Given the description of an element on the screen output the (x, y) to click on. 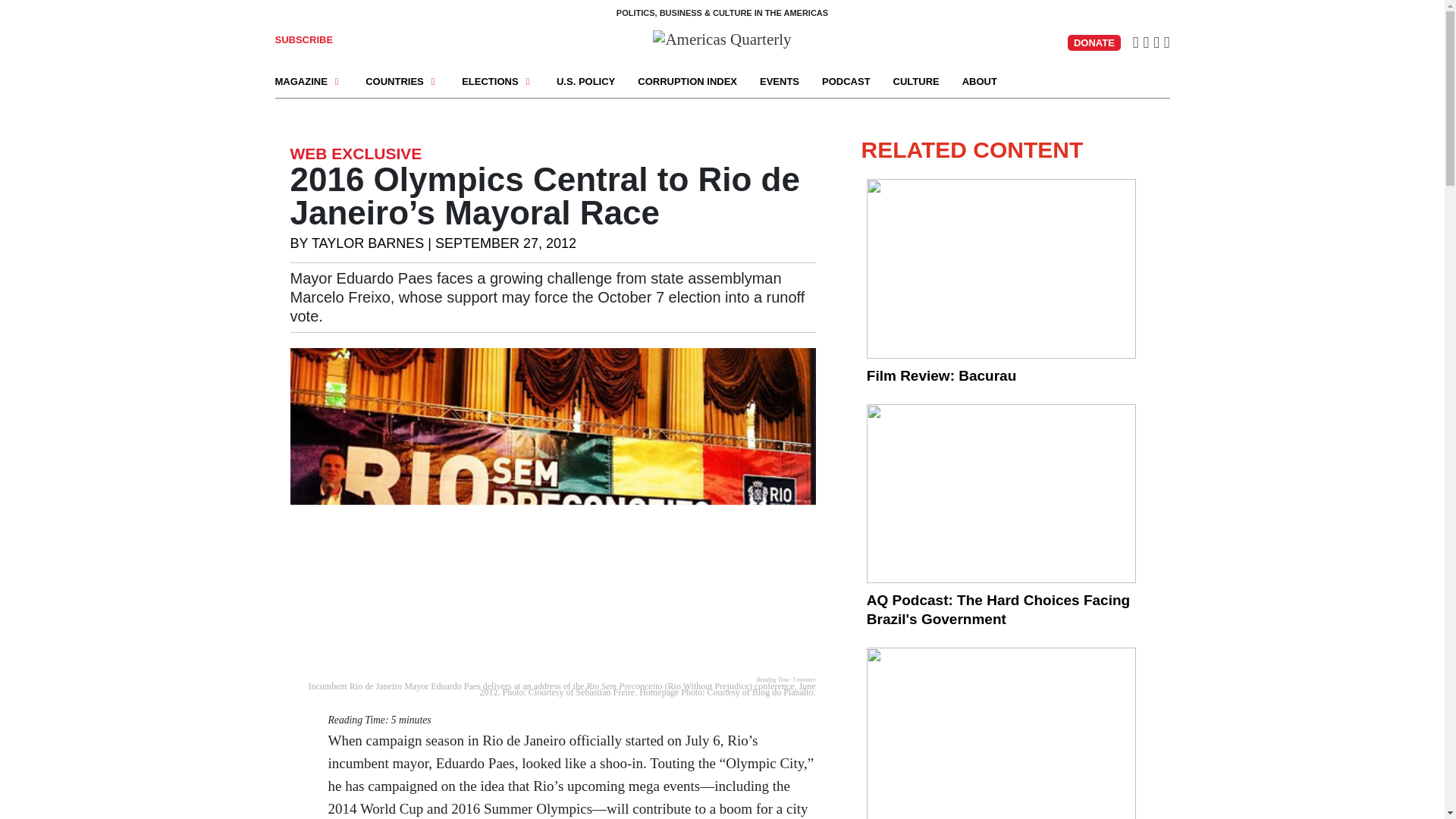
SUBSCRIBE (304, 39)
Americas Quarterly (721, 37)
DONATE (1094, 42)
Americas Quarterly (721, 39)
